Given the description of an element on the screen output the (x, y) to click on. 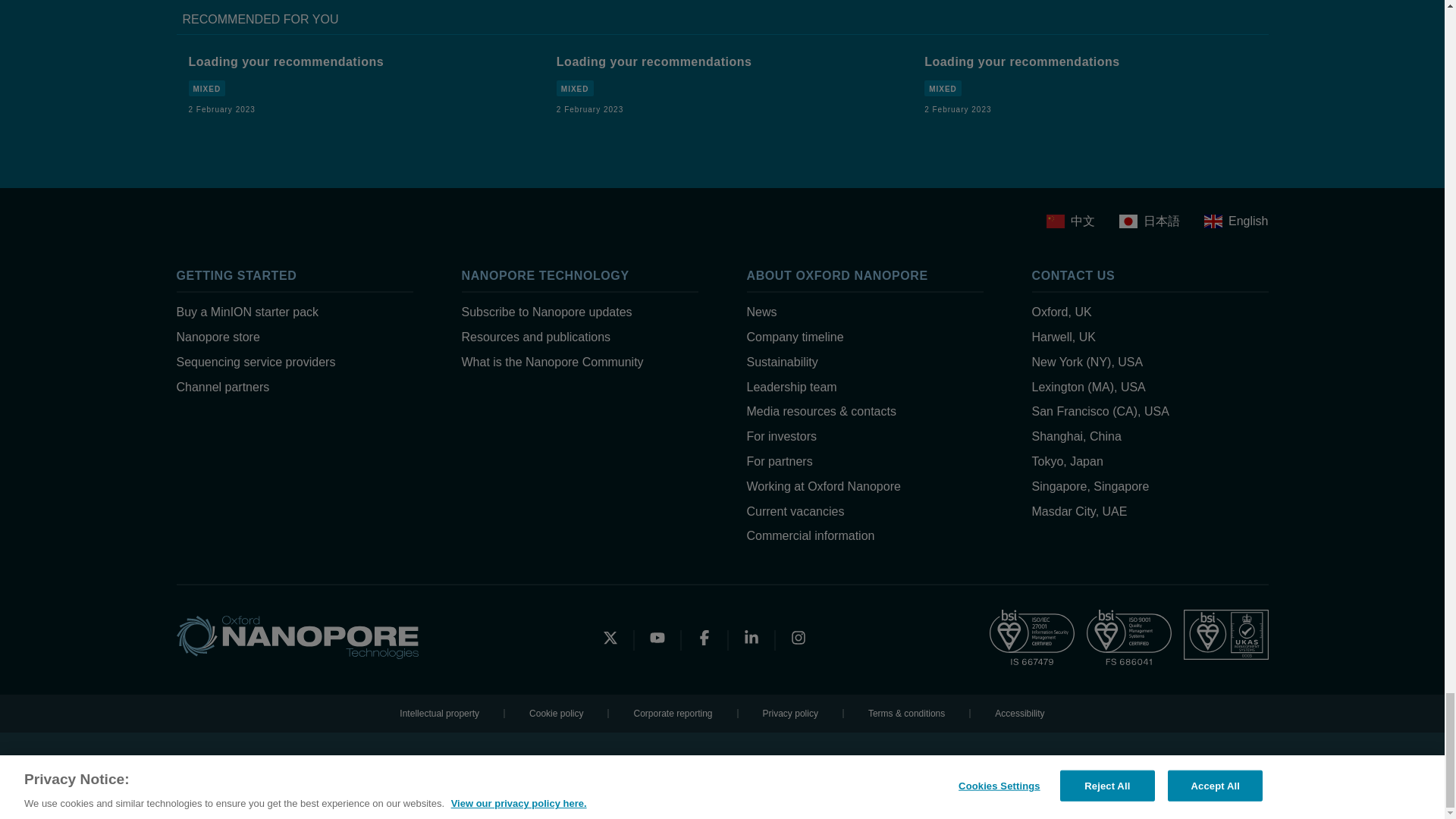
Twitter (609, 639)
YouTube (657, 639)
Facebook (704, 639)
Linkedin (751, 639)
Instagram (797, 639)
